Given the description of an element on the screen output the (x, y) to click on. 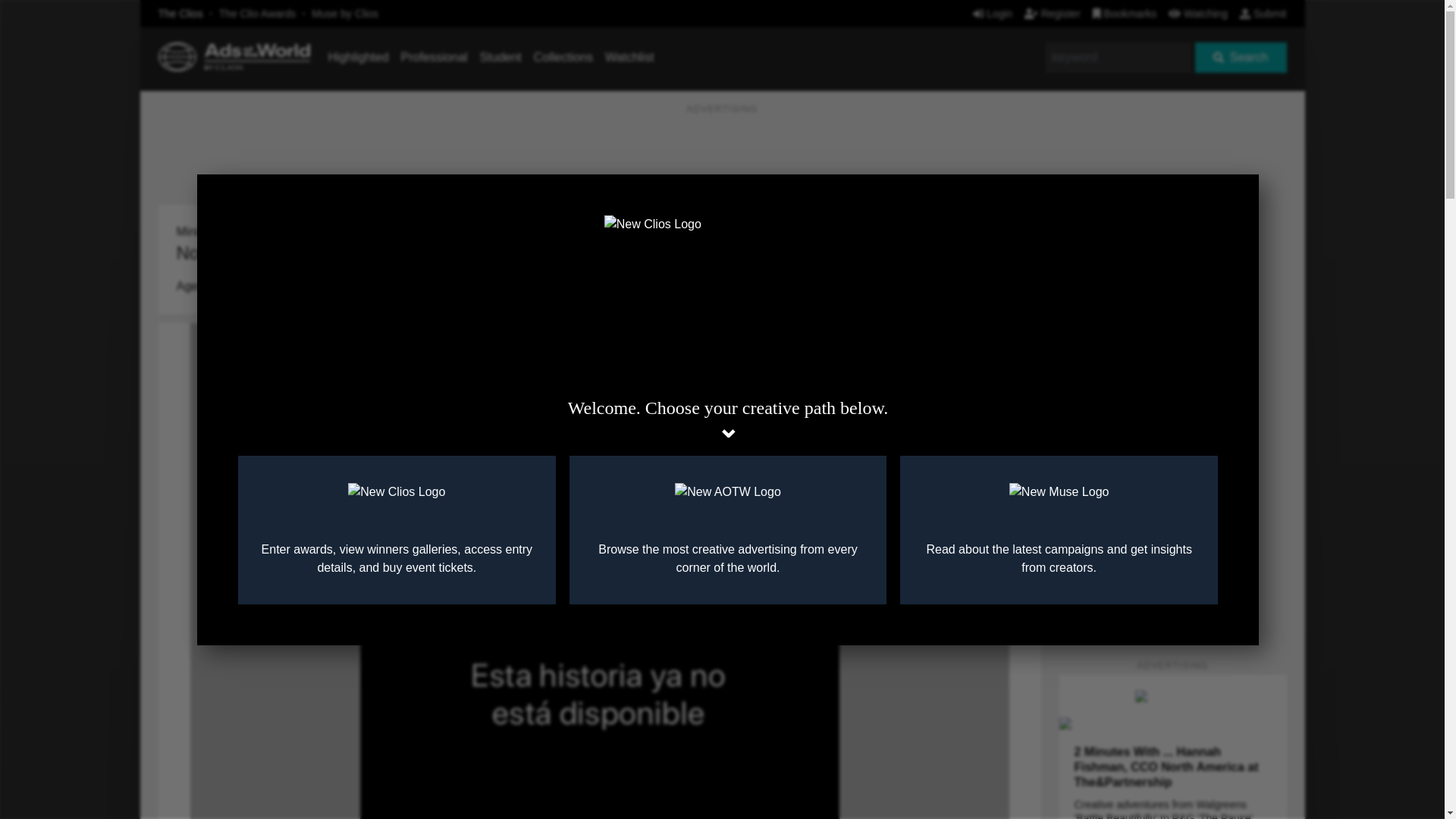
Muse by Clios (344, 13)
Submit (1263, 13)
Watching (1198, 13)
Register (1052, 13)
The Clio Awards (258, 13)
Watchlist (629, 56)
Search (1241, 57)
Professional (434, 56)
Highlighted (357, 56)
Collections (563, 56)
